Given the description of an element on the screen output the (x, y) to click on. 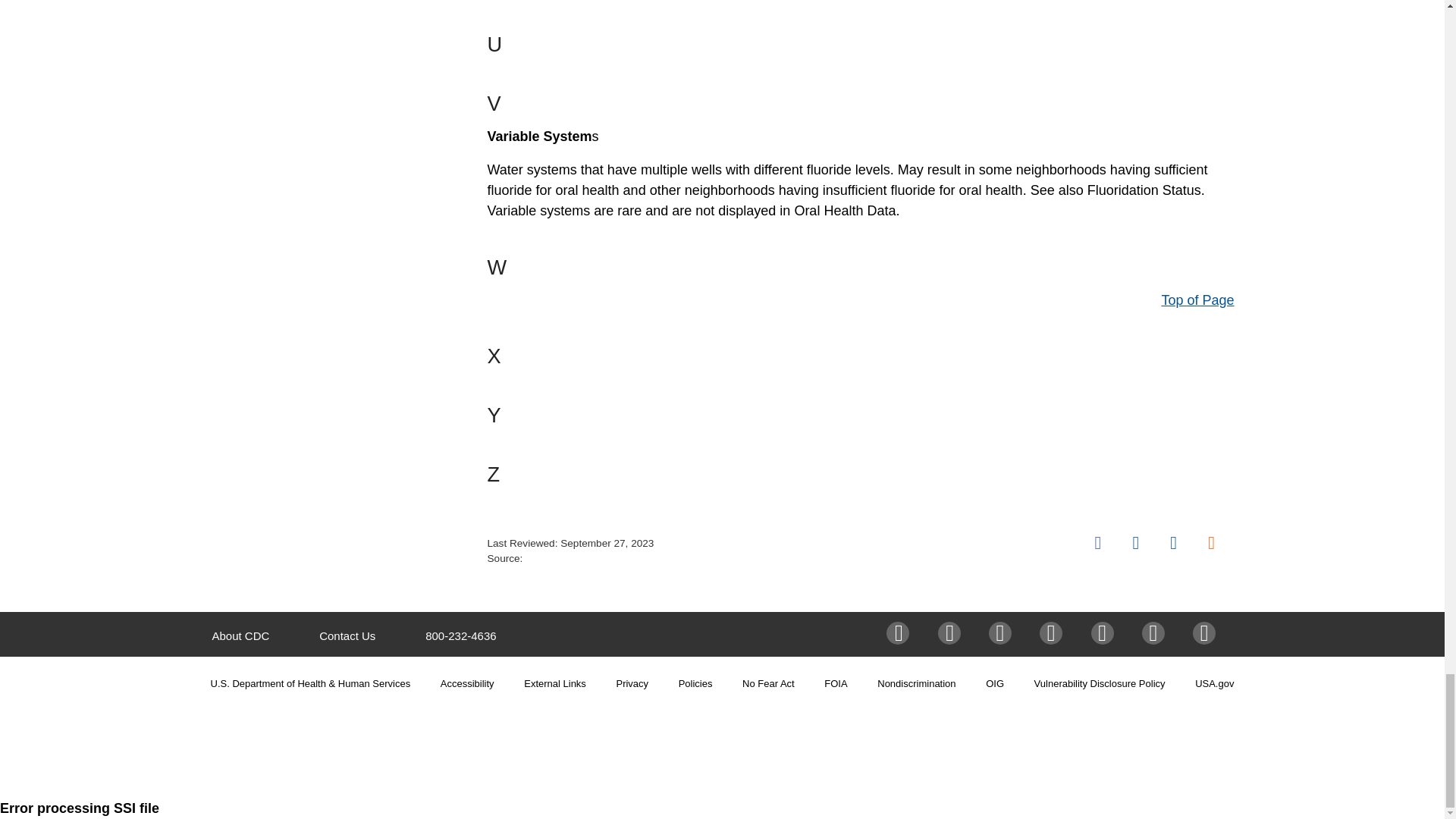
LinkedIn (1173, 542)
Top of Page (1196, 299)
Facebook (900, 632)
Facebook (1097, 542)
Syndicate (1211, 542)
800-232-4636 (460, 635)
Twitter (951, 632)
Twitter (1135, 542)
Share to Facebook (1097, 542)
Embed this Page (1211, 542)
Share to Twitter (1135, 542)
Share to LinkedIn (1173, 542)
About CDC (240, 635)
LinkedIn (1052, 632)
Youtube (1105, 632)
